Given the description of an element on the screen output the (x, y) to click on. 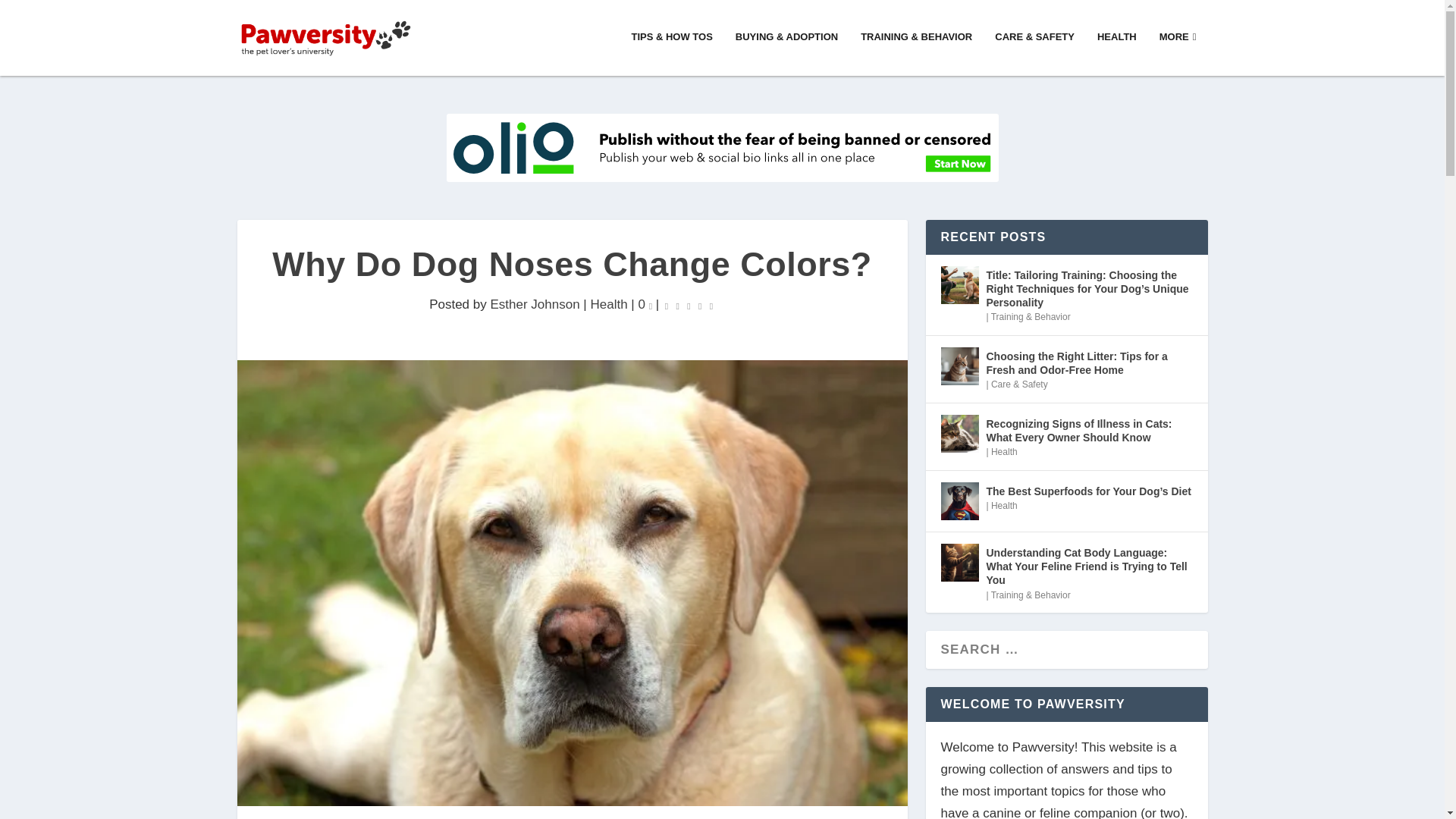
Esther Johnson (534, 304)
Health (608, 304)
0 (644, 304)
Posts by Esther Johnson (534, 304)
Rating: 0.00 (688, 305)
